Given the description of an element on the screen output the (x, y) to click on. 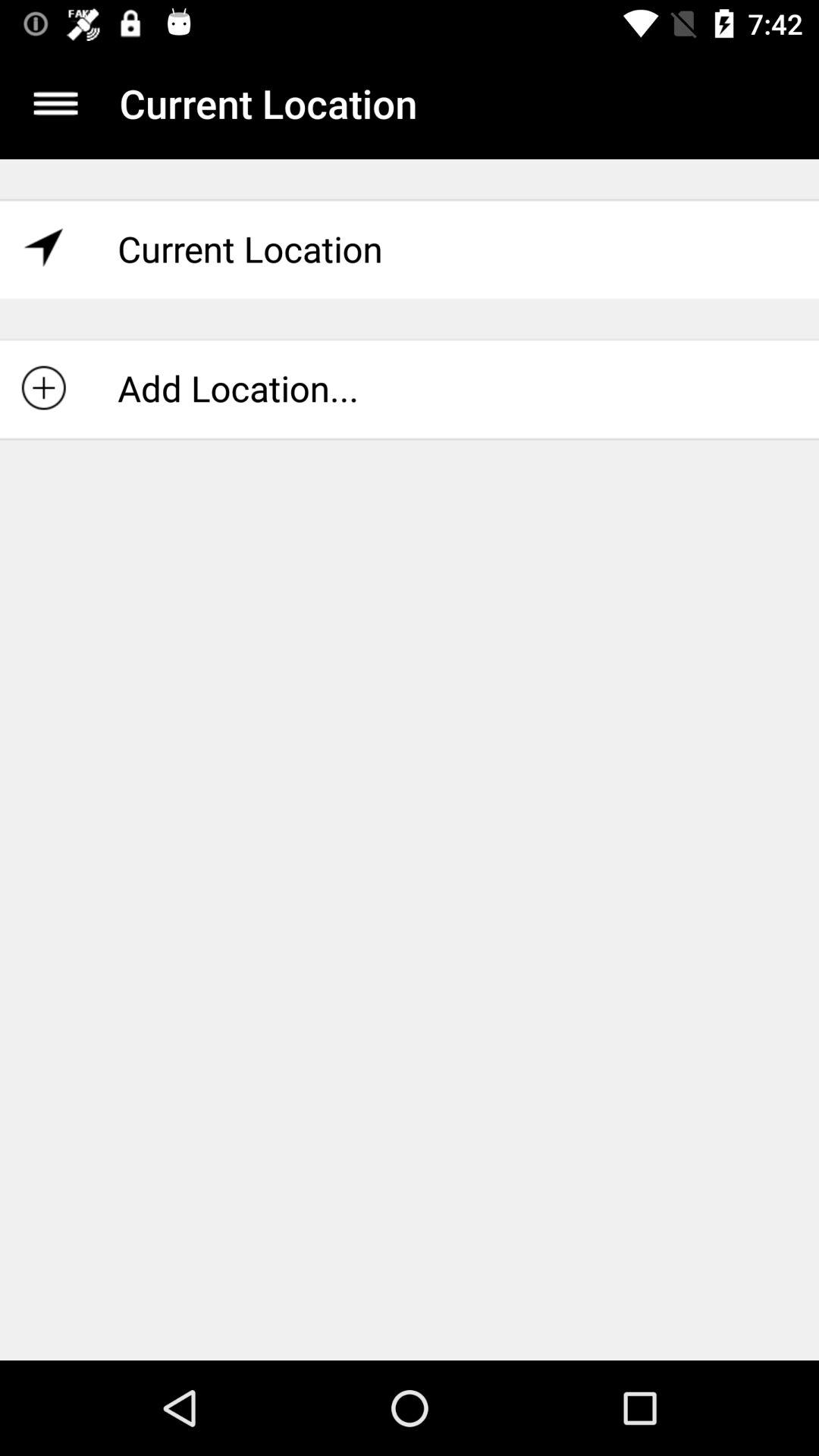
launch the item to the left of the current location icon (55, 103)
